Given the description of an element on the screen output the (x, y) to click on. 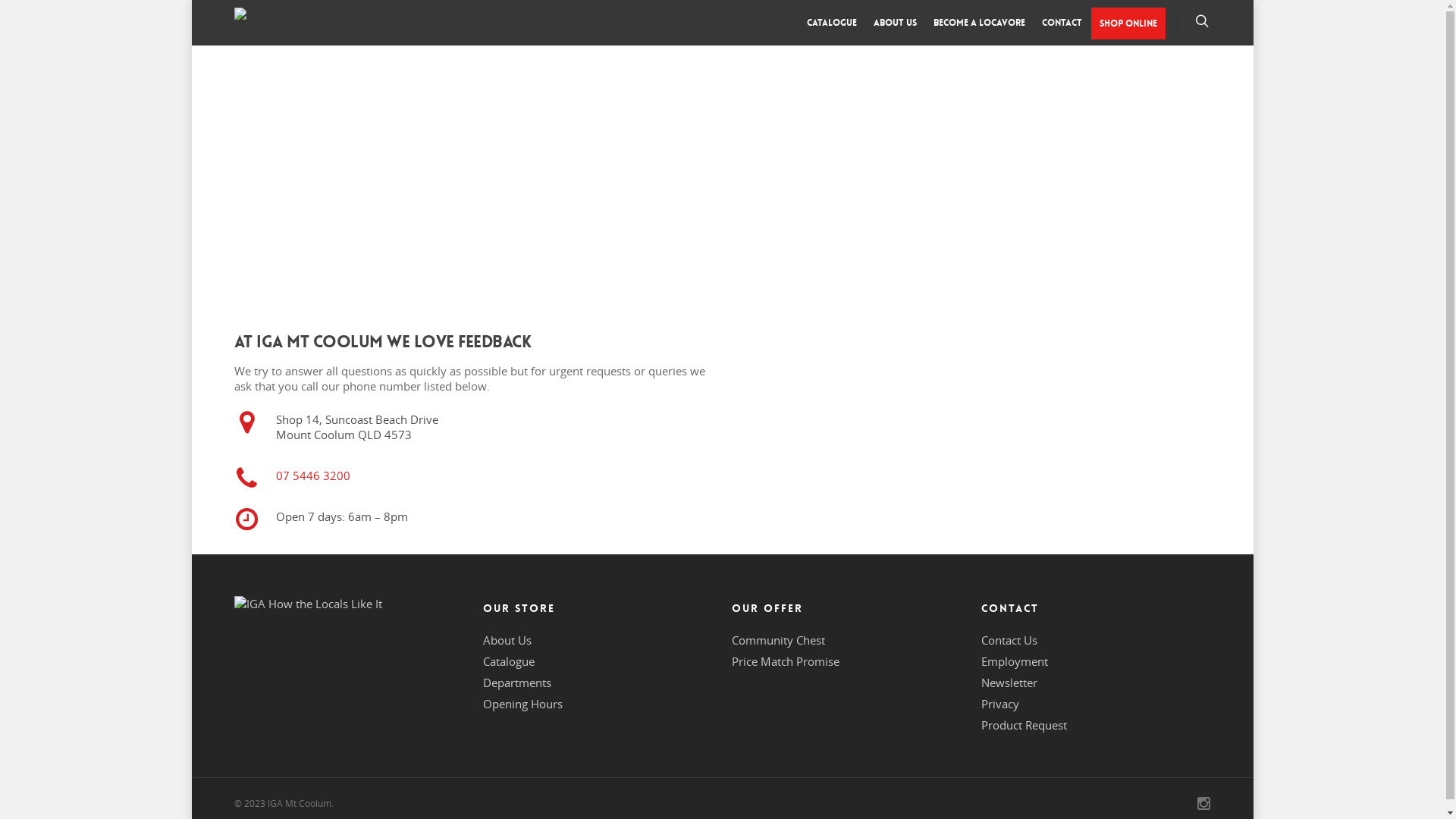
07 5446 3200 Element type: text (313, 475)
Price Match Promise Element type: text (785, 660)
Contact Us Element type: text (1009, 639)
About Us Element type: text (895, 26)
Shop Online Element type: text (1127, 23)
Product Request Element type: text (1023, 724)
Become a Locavore Element type: text (978, 26)
Contact Element type: text (1061, 26)
Departments Element type: text (517, 682)
Employment Element type: text (1014, 660)
Community Chest Element type: text (778, 639)
Catalogue Element type: text (508, 660)
About Us Element type: text (507, 639)
Newsletter Element type: text (1009, 682)
Catalogue Element type: text (831, 26)
Privacy Element type: text (1000, 703)
Opening Hours Element type: text (522, 703)
